Given the description of an element on the screen output the (x, y) to click on. 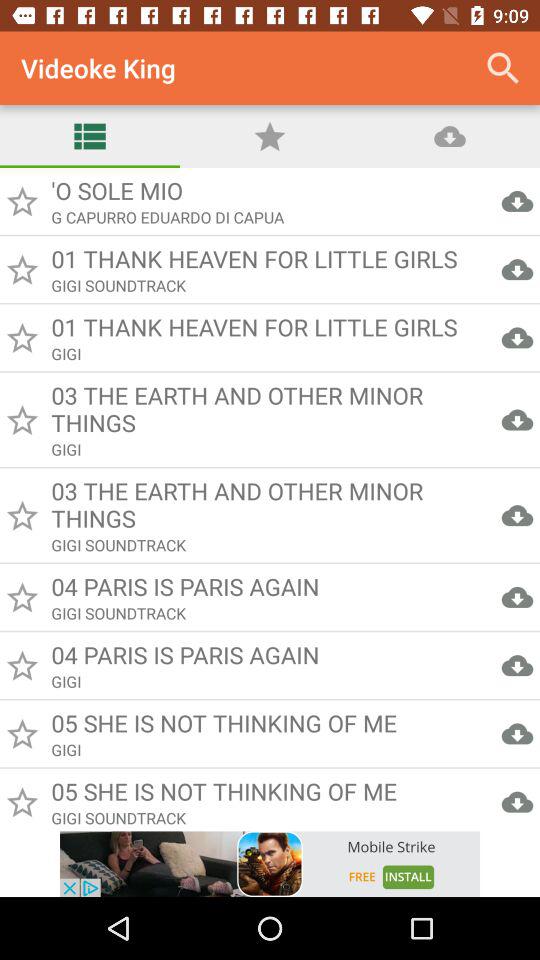
advertisement link (270, 864)
